Given the description of an element on the screen output the (x, y) to click on. 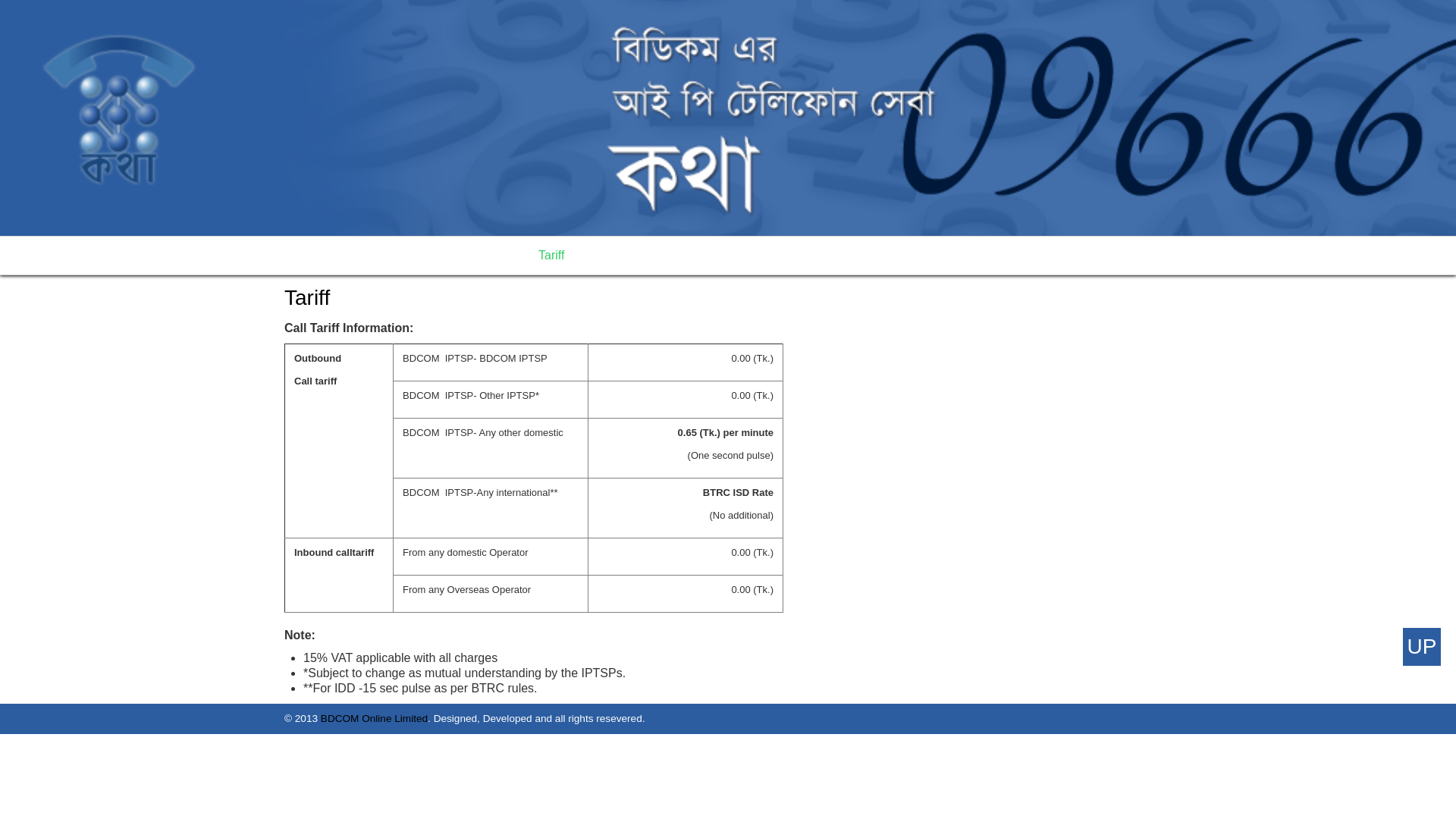
Contact Us Element type: text (1054, 255)
Notice Board Element type: text (922, 255)
Career Element type: text (671, 255)
Home Element type: text (308, 255)
FAQs Element type: text (990, 255)
Product Element type: text (498, 255)
Tariff Element type: text (306, 297)
Services Element type: text (435, 255)
About Us Element type: text (368, 255)
BDCOM Online Limited Element type: text (373, 718)
Tariff Element type: text (550, 255)
Helpdesk Element type: text (608, 255)
UP Element type: text (1421, 646)
Photo Gallery Element type: text (745, 255)
Latest News Element type: text (834, 255)
